Given the description of an element on the screen output the (x, y) to click on. 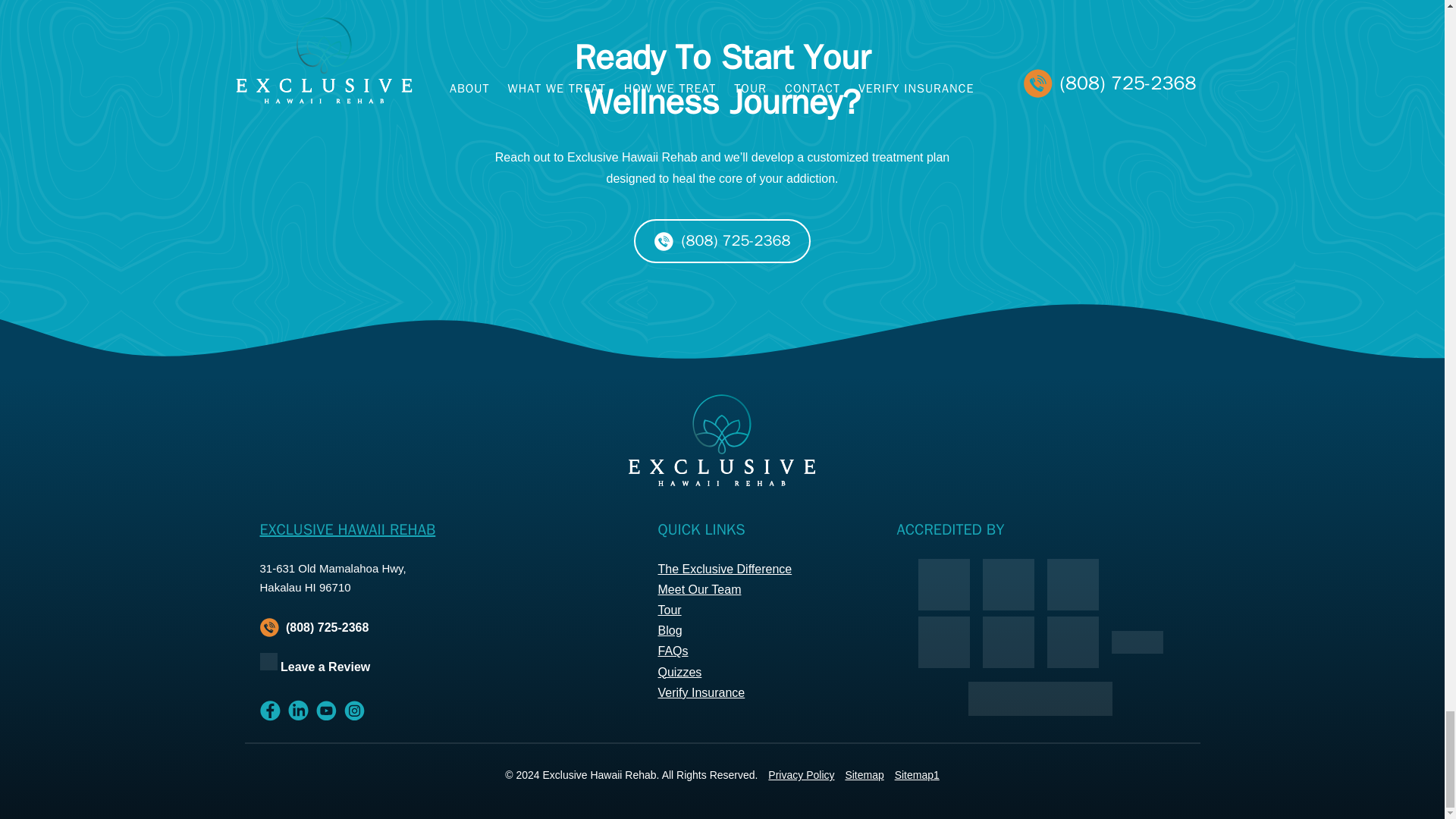
Exclusive Hawaii Rehab (1008, 645)
